Given the description of an element on the screen output the (x, y) to click on. 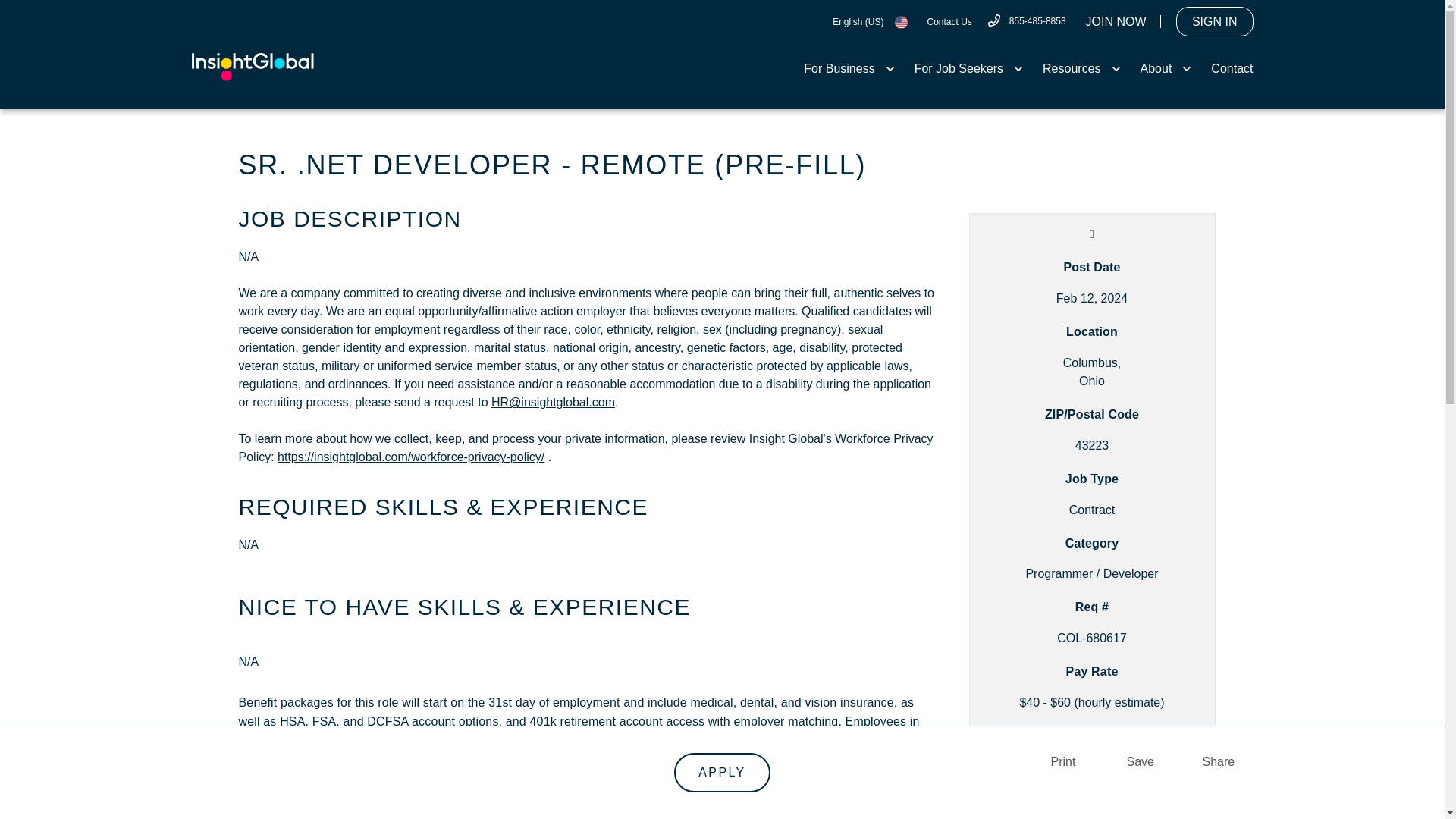
For Business (849, 68)
855-485-8853 (1026, 20)
Sign up as a new user (1116, 21)
JOIN NOW (1116, 21)
Contact Us (948, 21)
Log in to your account (1214, 21)
SIGN IN (1214, 21)
